Given the description of an element on the screen output the (x, y) to click on. 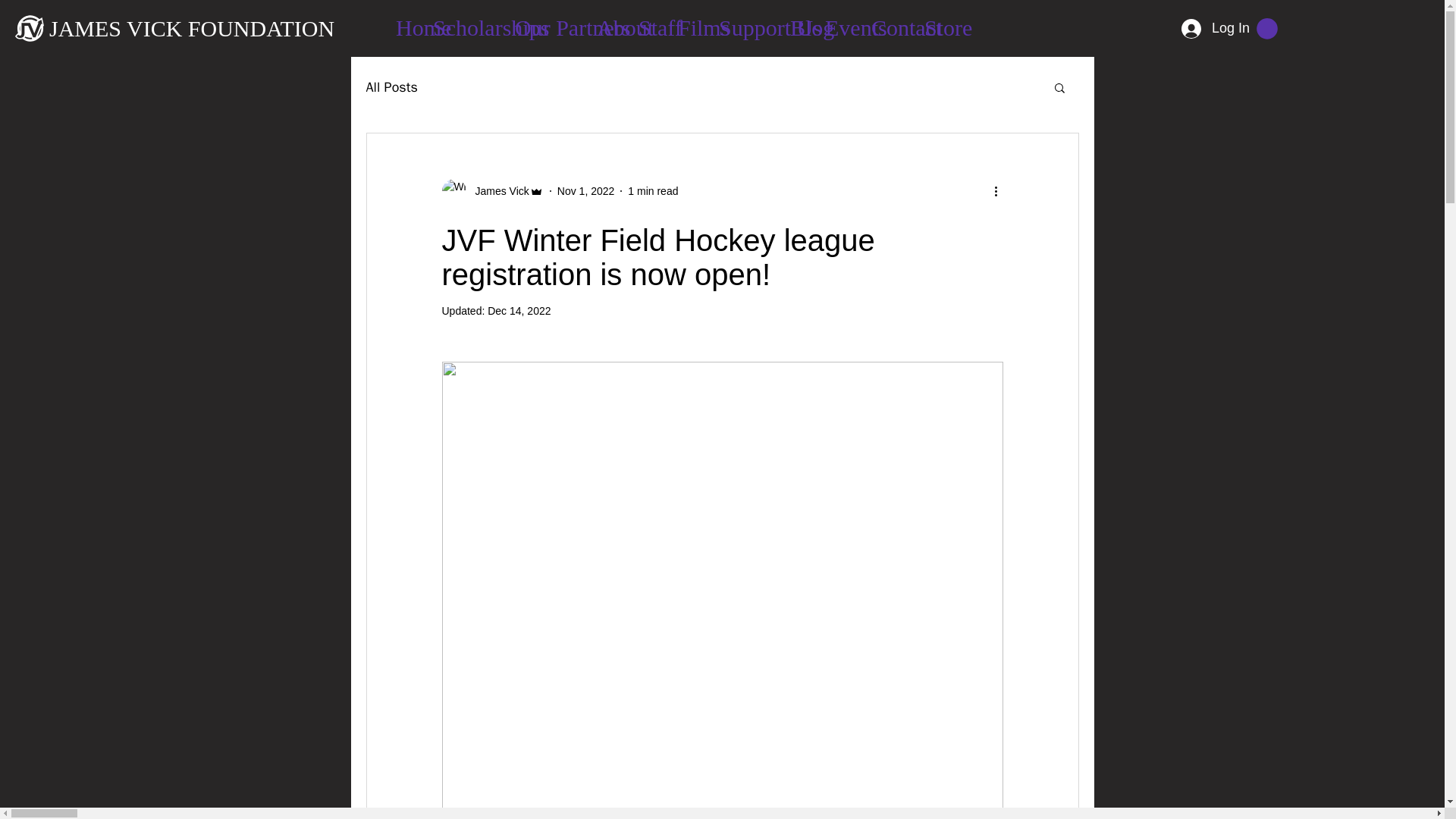
Scholarships (467, 20)
JAMES VICK FOUNDATION (191, 28)
Contact (891, 20)
Staff (651, 20)
Events (841, 20)
James Vick (496, 191)
Store (938, 20)
Dec 14, 2022 (518, 310)
1 min read (652, 191)
Home (408, 20)
All Posts (390, 86)
James Vick (492, 191)
Support Us (748, 20)
Films (692, 20)
Log In (1208, 27)
